Given the description of an element on the screen output the (x, y) to click on. 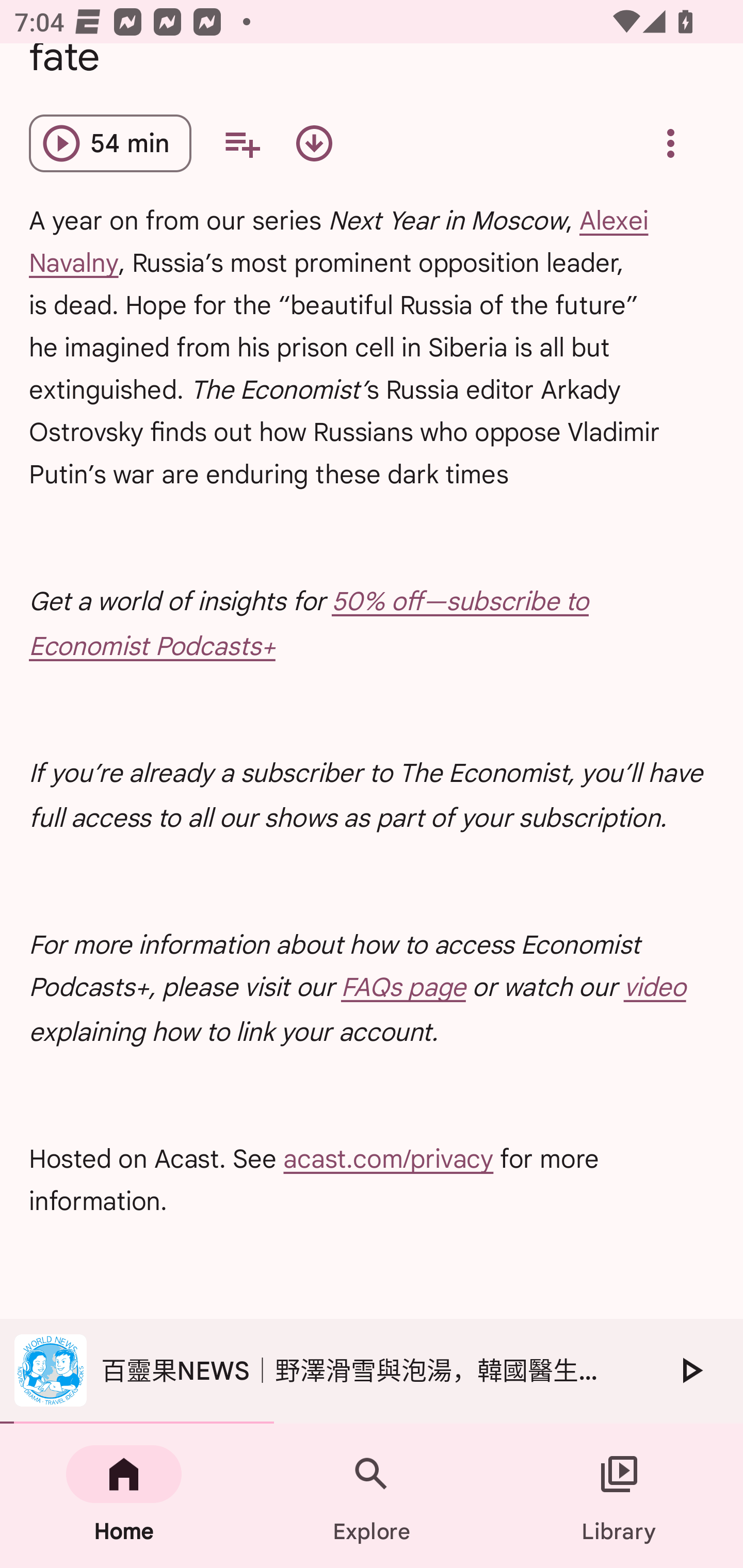
Add to your queue (241, 143)
Download episode (313, 143)
Overflow menu (670, 143)
Play (690, 1370)
Explore (371, 1495)
Library (619, 1495)
